Given the description of an element on the screen output the (x, y) to click on. 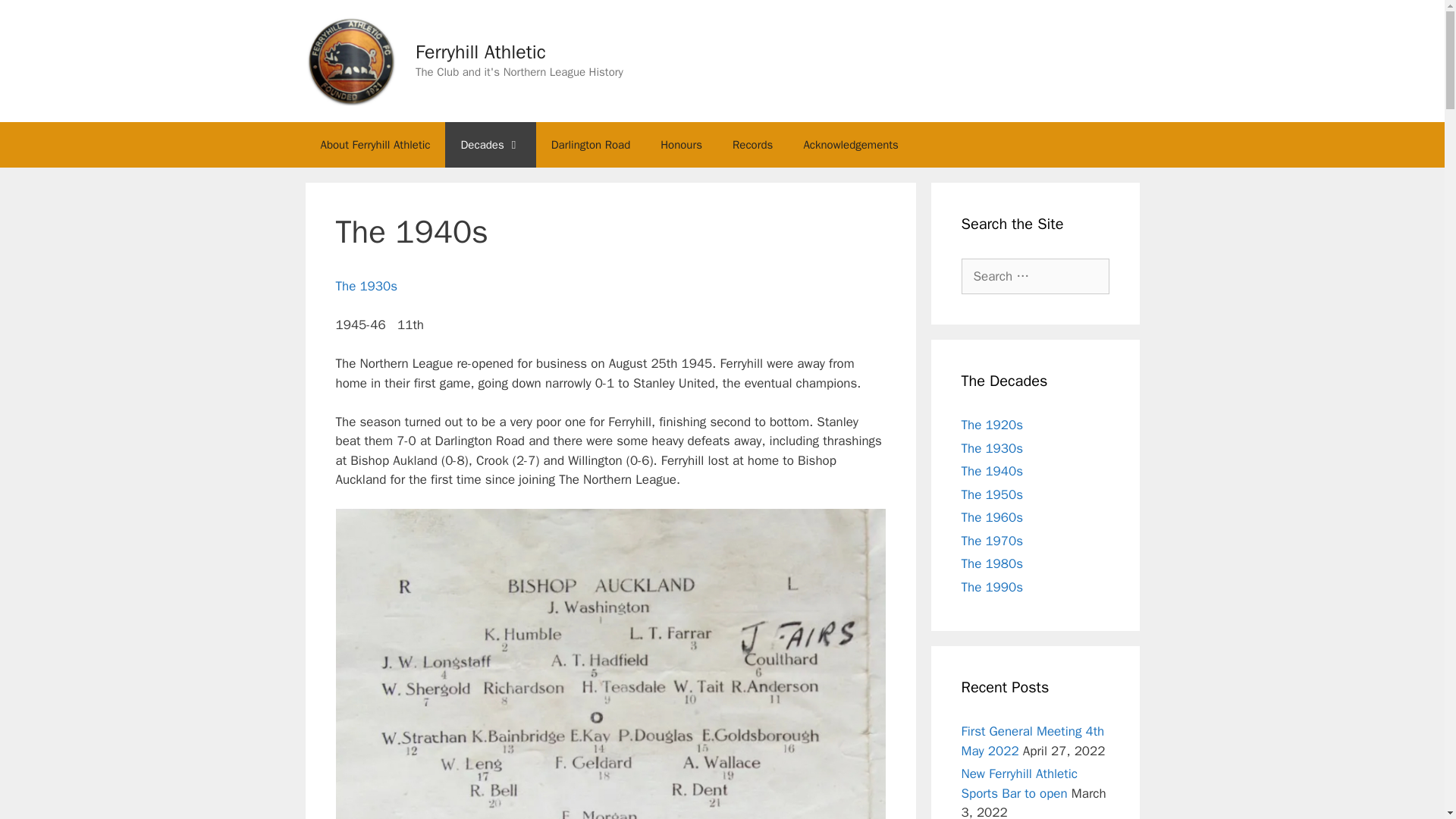
About Ferryhill Athletic (374, 144)
The 1970s (991, 540)
Ferryhill Athletic (480, 51)
The 1930s (991, 448)
First General Meeting 4th May 2022 (1032, 741)
Decades (490, 144)
The 1980s (991, 563)
The 1990s (991, 587)
Search for: (1034, 276)
The 1920s (991, 424)
